Given the description of an element on the screen output the (x, y) to click on. 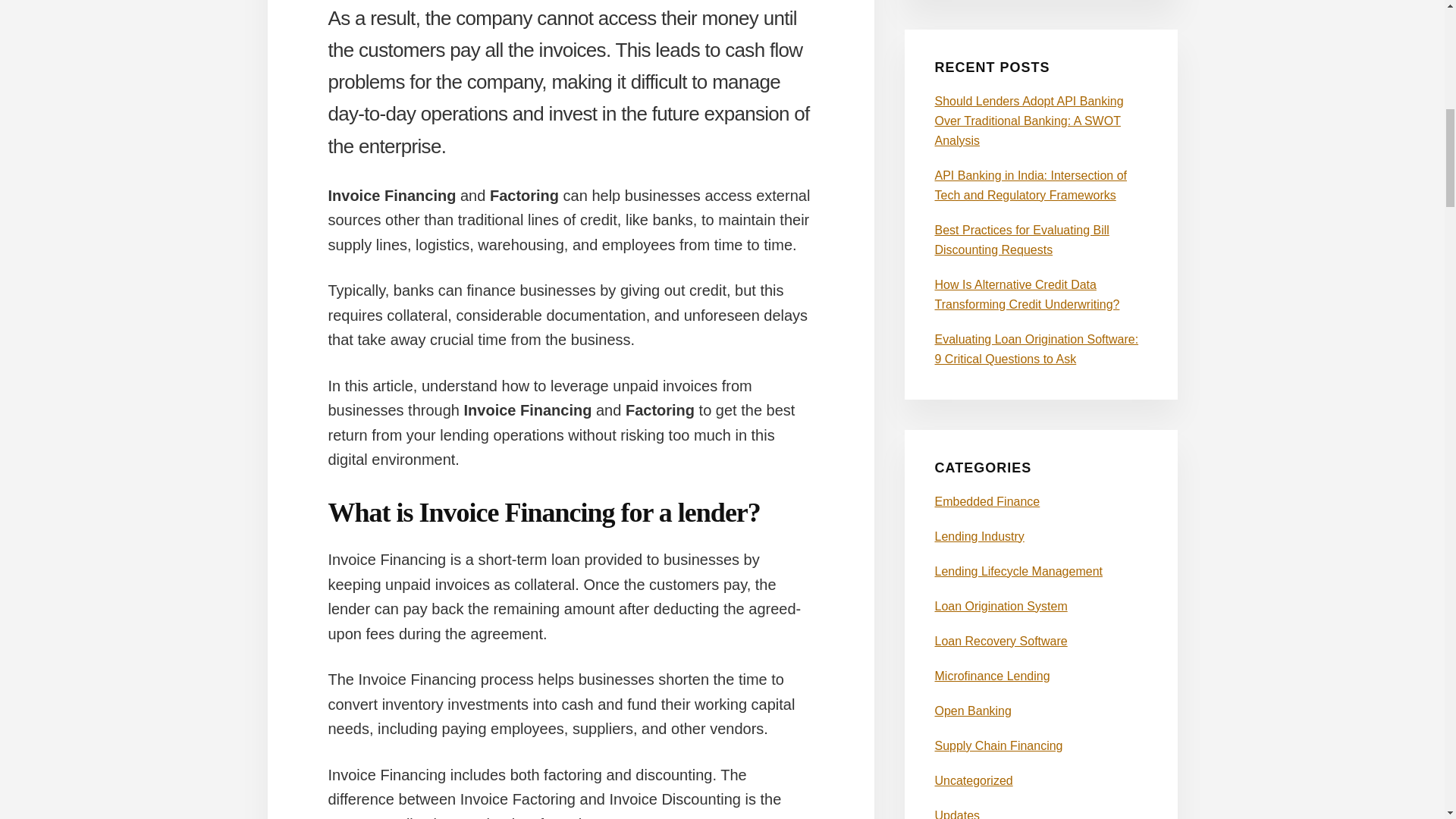
Lending Industry (978, 535)
Embedded Finance (986, 501)
Best Practices for Evaluating Bill Discounting Requests (1021, 239)
